Given the description of an element on the screen output the (x, y) to click on. 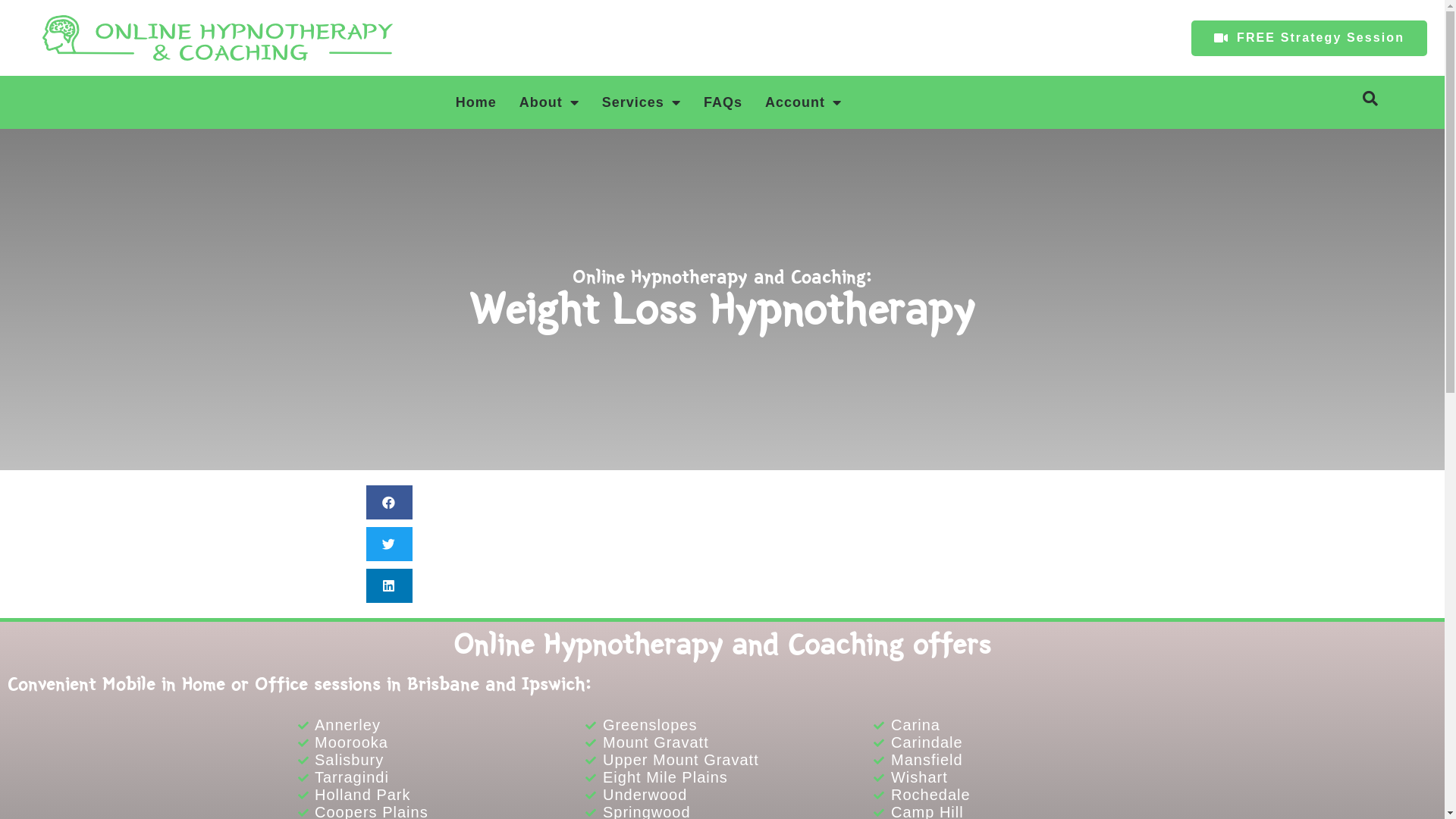
Services Element type: text (641, 102)
Account Element type: text (803, 102)
Home Element type: text (476, 102)
FREE Strategy Session Element type: text (1309, 37)
FAQs Element type: text (722, 102)
About Element type: text (549, 102)
